Given the description of an element on the screen output the (x, y) to click on. 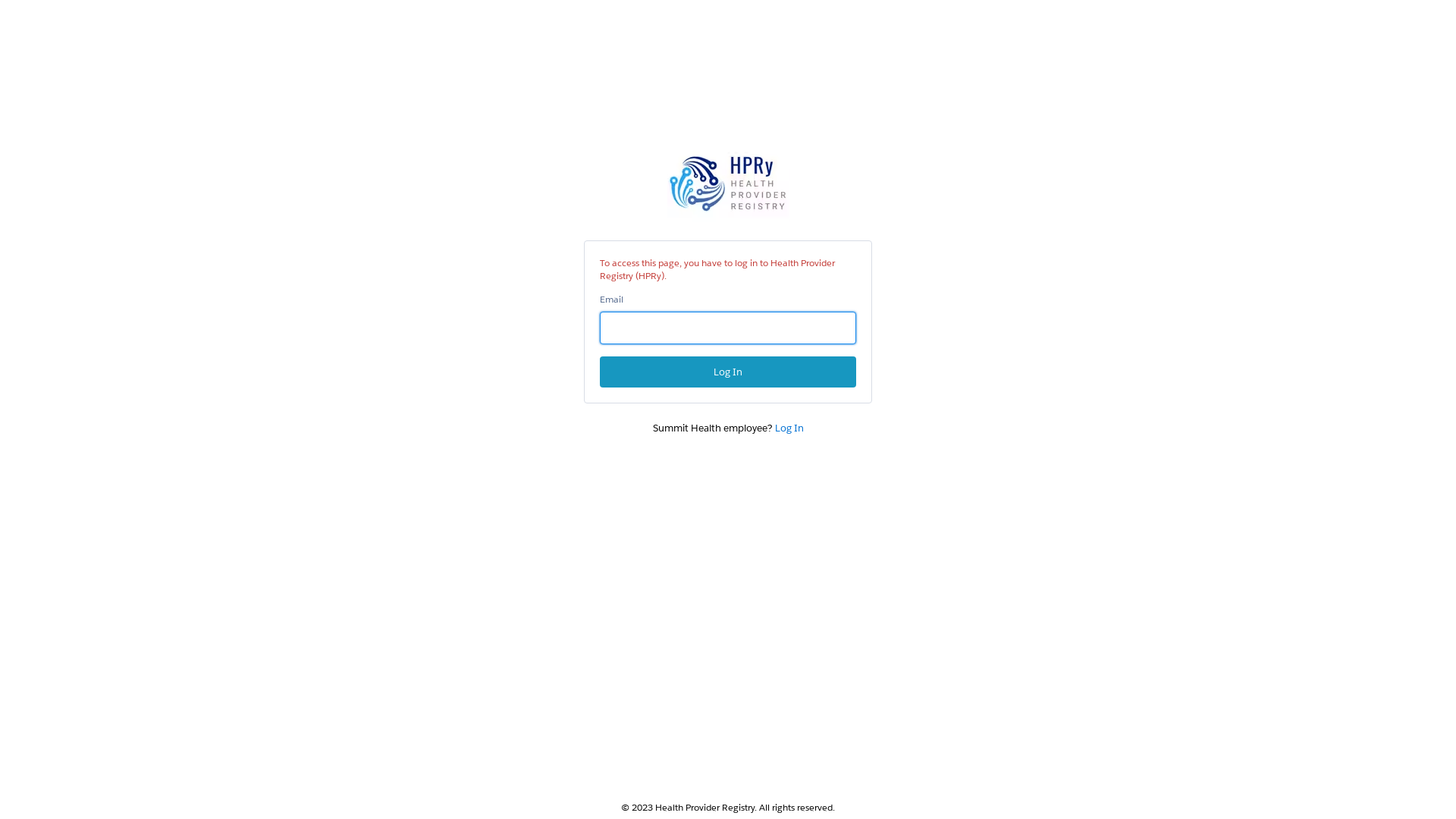
Log In Element type: text (727, 371)
Log In Element type: text (789, 427)
